Given the description of an element on the screen output the (x, y) to click on. 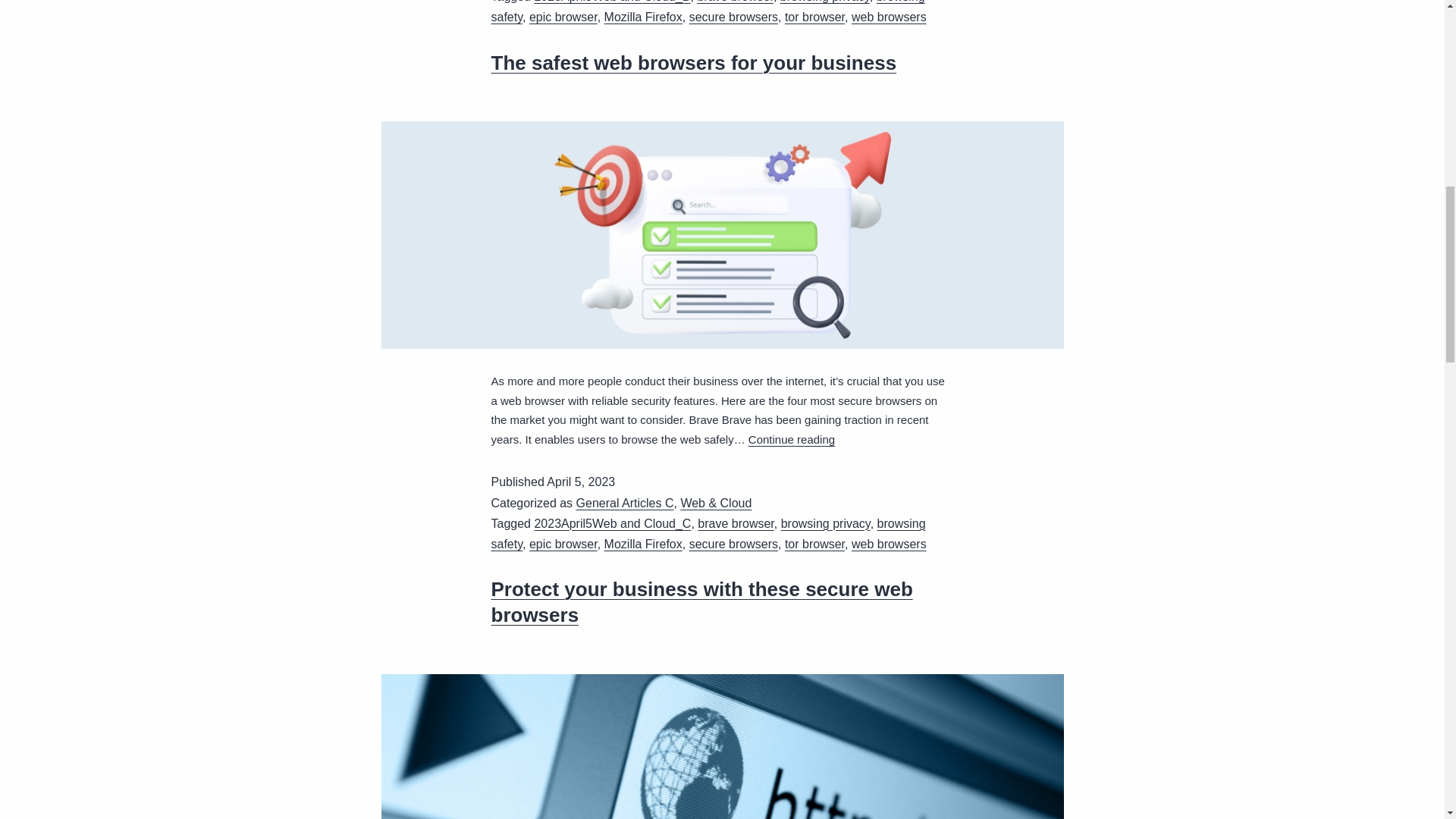
secure browsers (732, 16)
Continue reading (791, 439)
browsing privacy (825, 522)
tor browser (814, 16)
The safest web browsers for your business (694, 62)
secure browsers (732, 543)
web browsers (888, 16)
browsing safety (708, 11)
General Articles C (625, 502)
Mozilla Firefox (643, 16)
epic browser (562, 16)
brave browser (735, 522)
brave browser (735, 1)
Protect your business with these secure web browsers (702, 602)
browsing safety (709, 533)
